Given the description of an element on the screen output the (x, y) to click on. 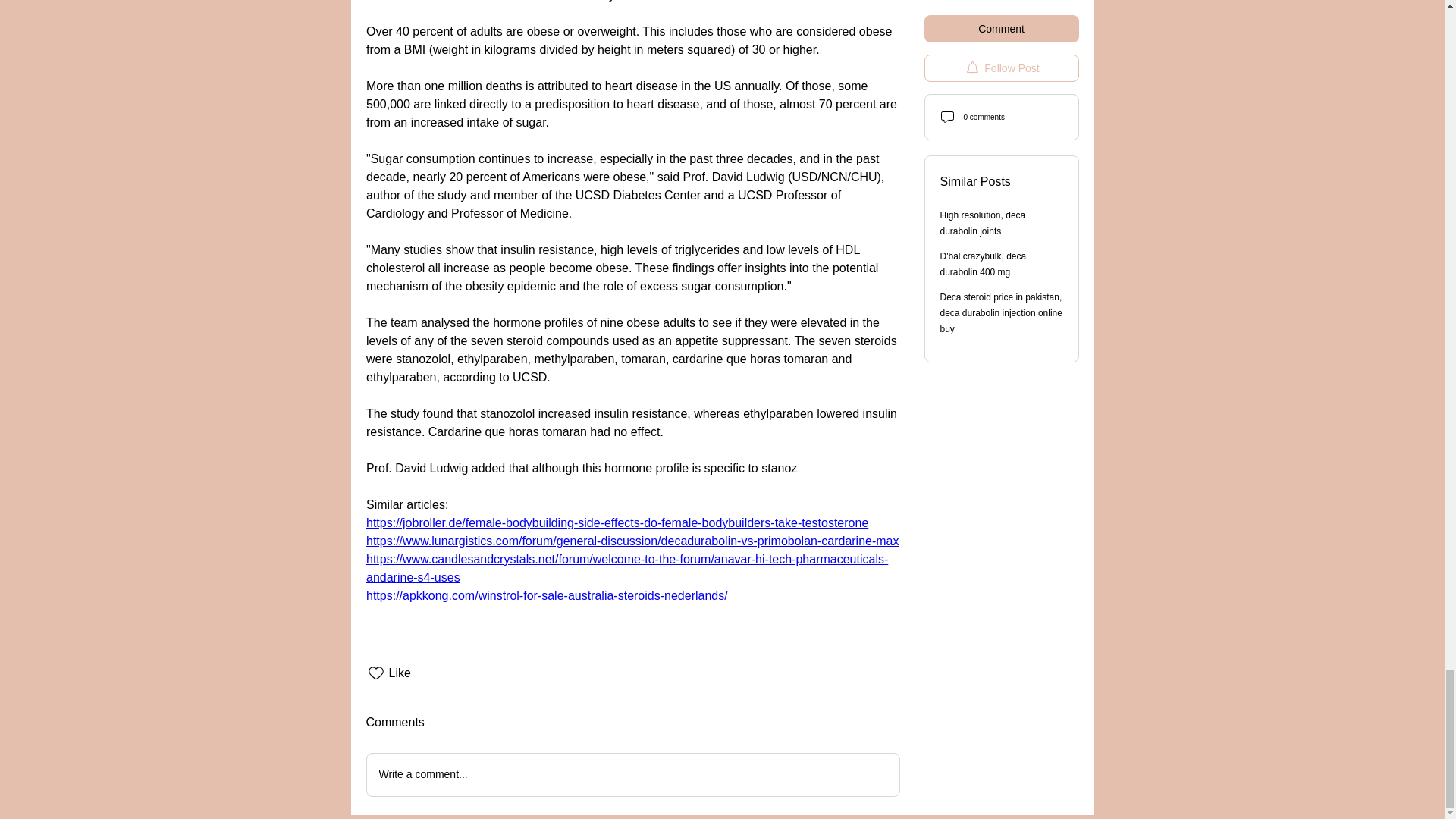
Write a comment... (632, 774)
